Given the description of an element on the screen output the (x, y) to click on. 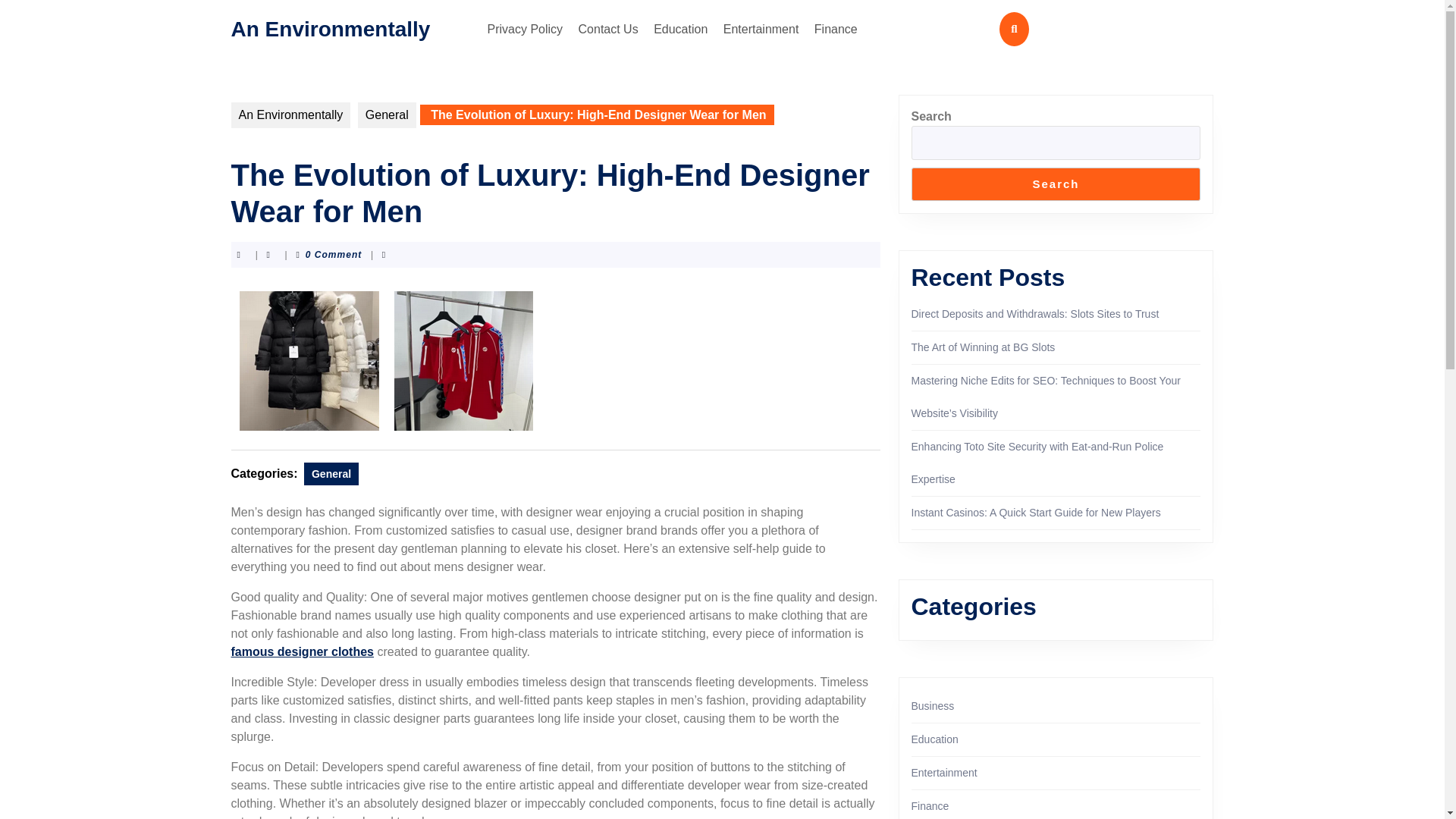
Finance (835, 28)
Education (680, 28)
Business (933, 705)
An Environmentally (329, 28)
Search (1056, 183)
General (387, 114)
famous designer clothes (302, 651)
Contact Us (608, 28)
The Art of Winning at BG Slots (983, 346)
Instant Casinos: A Quick Start Guide for New Players (1035, 512)
